Given the description of an element on the screen output the (x, y) to click on. 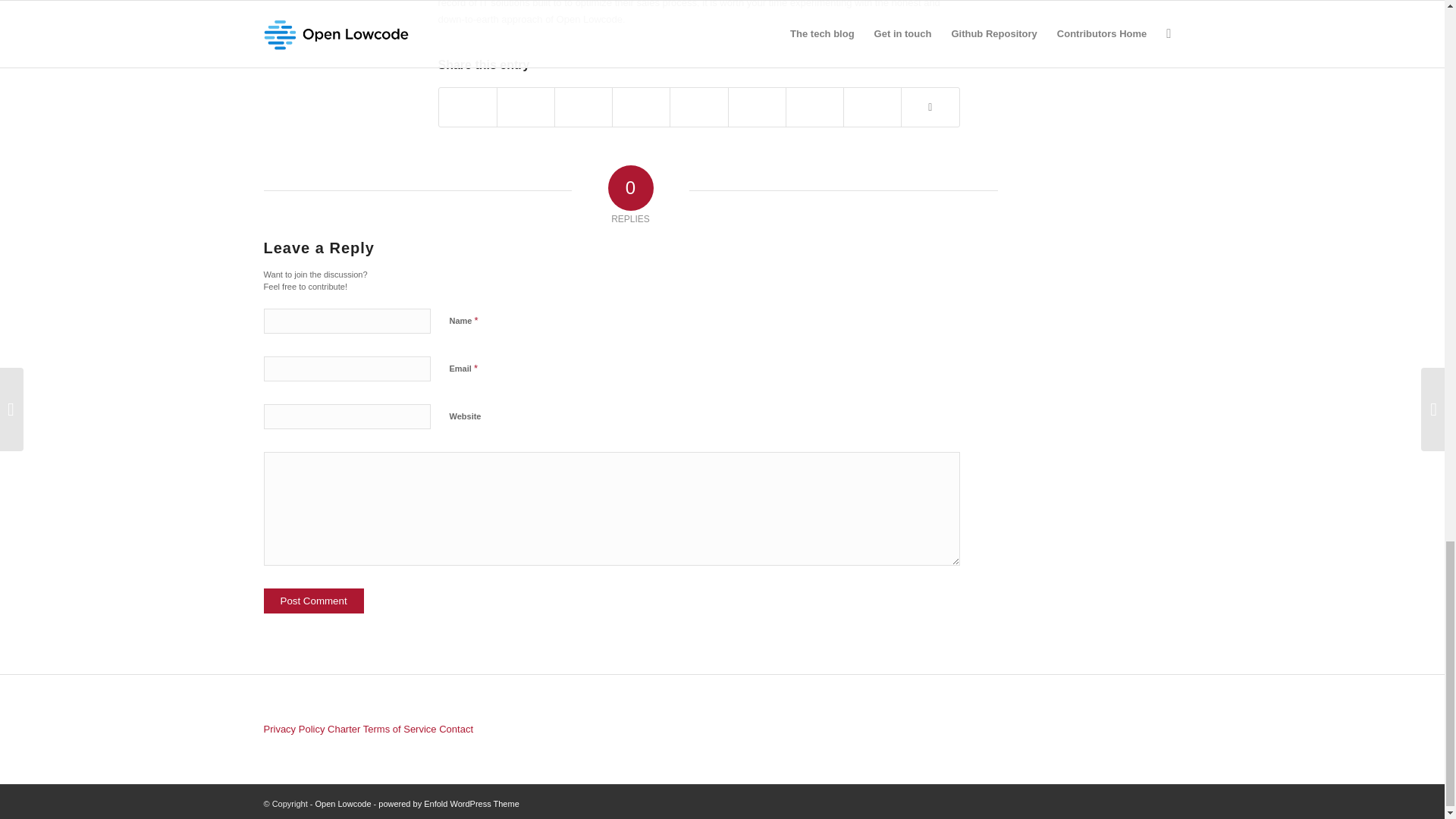
Post Comment (313, 600)
Post Comment (313, 600)
Open Lowcode (343, 803)
Contact (456, 728)
Privacy Policy Charter (312, 728)
Terms of Service (399, 728)
powered by Enfold WordPress Theme (448, 803)
